Given the description of an element on the screen output the (x, y) to click on. 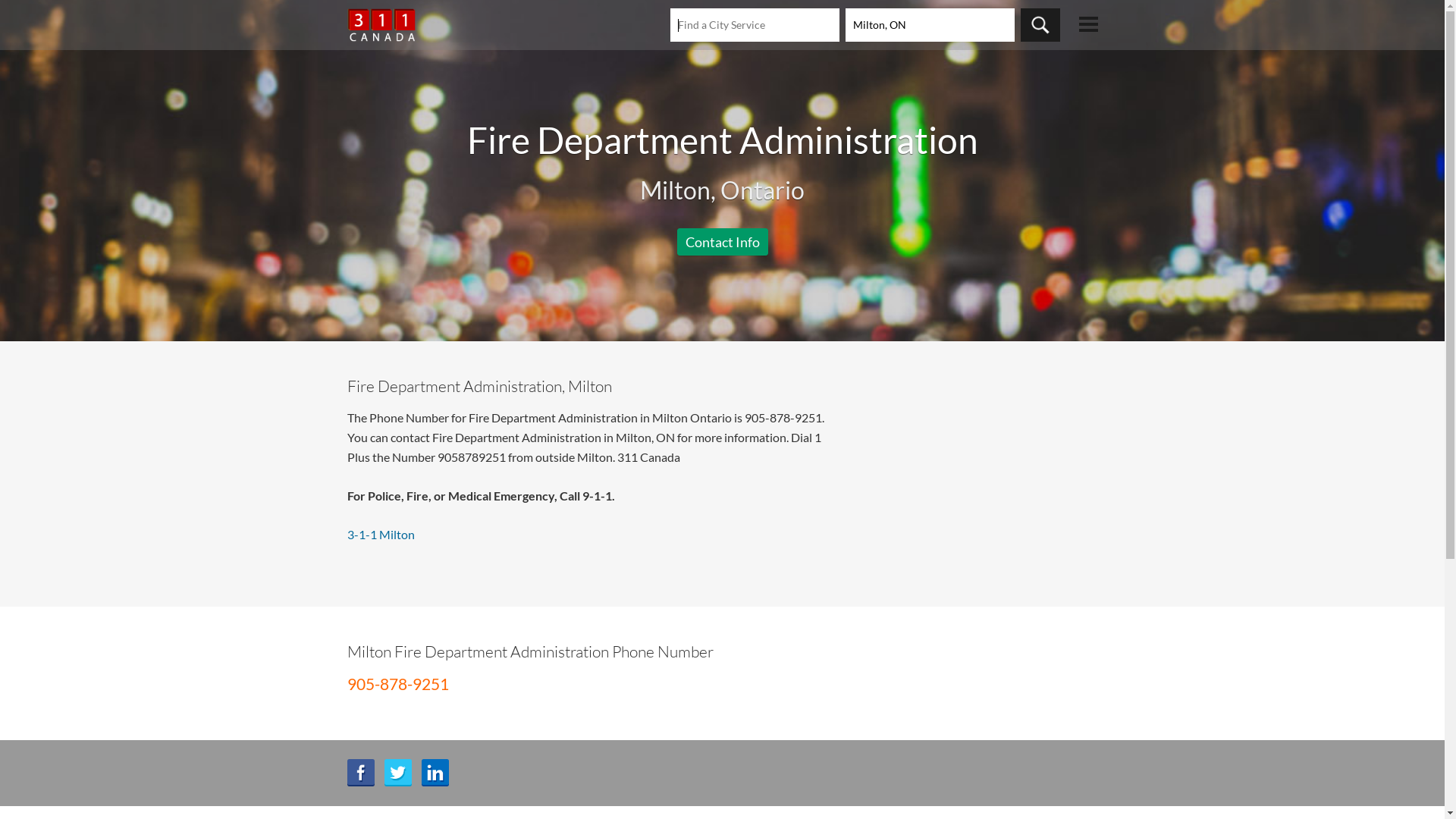
Contact Info Element type: text (721, 241)
3-1-1 Milton Element type: text (380, 534)
Tweet Element type: hover (397, 772)
Share on Facebook Element type: hover (360, 772)
Advertisement Element type: hover (721, 227)
905-878-9251 Element type: text (397, 683)
Share on LinkedIn Element type: hover (434, 772)
Advertisement Element type: hover (970, 481)
